Given the description of an element on the screen output the (x, y) to click on. 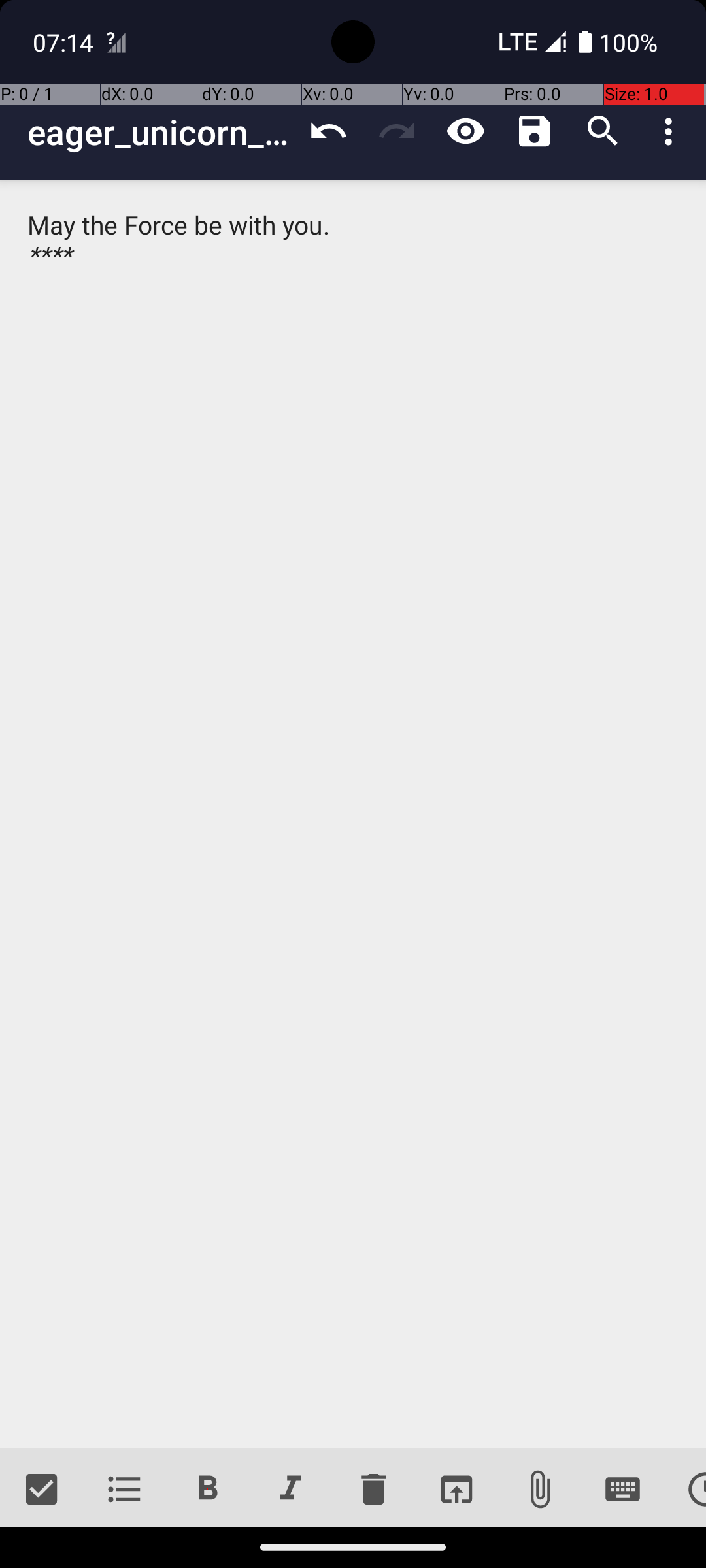
eager_unicorn_final Element type: android.widget.TextView (160, 131)
May the Force be with you.
**** Element type: android.widget.EditText (353, 813)
07:14 Element type: android.widget.TextView (64, 41)
